Given the description of an element on the screen output the (x, y) to click on. 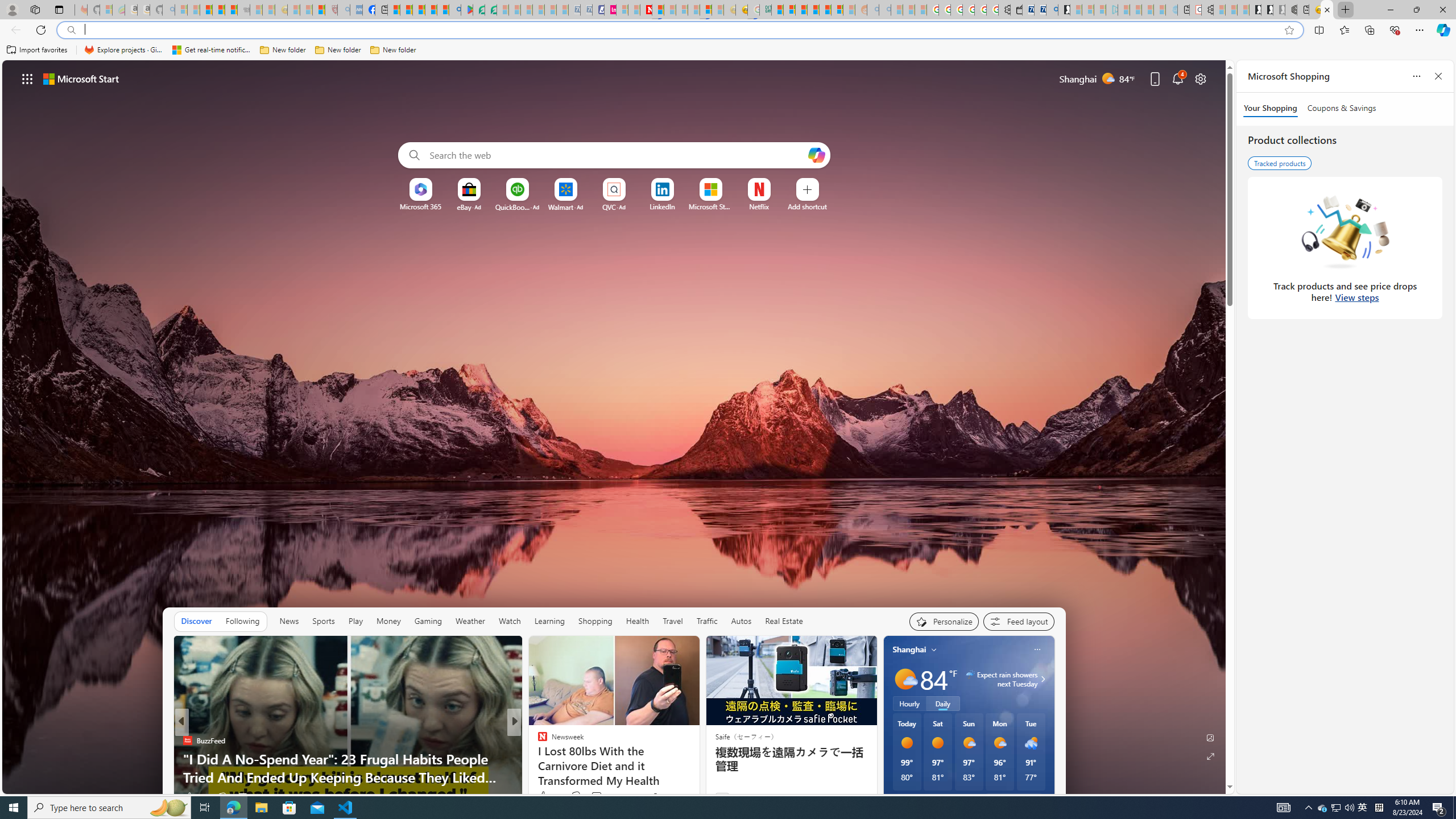
The Passport Kitchen (537, 758)
